Given the description of an element on the screen output the (x, y) to click on. 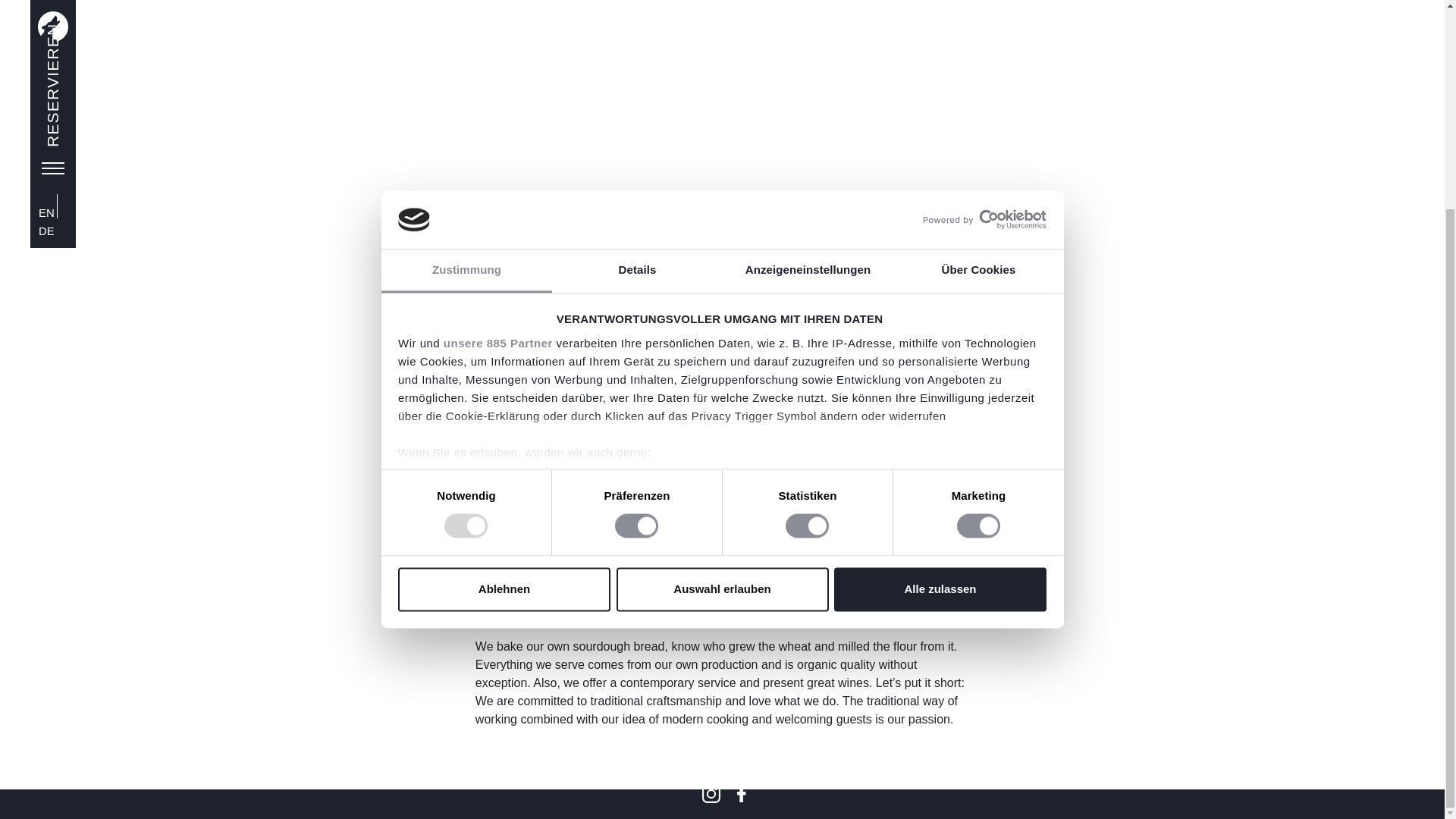
Anzeigeneinstellungen (807, 10)
Abschnitt Einzelheiten (462, 259)
Zustimmung (465, 10)
unsere 885 Partner (498, 71)
Details (636, 10)
